Given the description of an element on the screen output the (x, y) to click on. 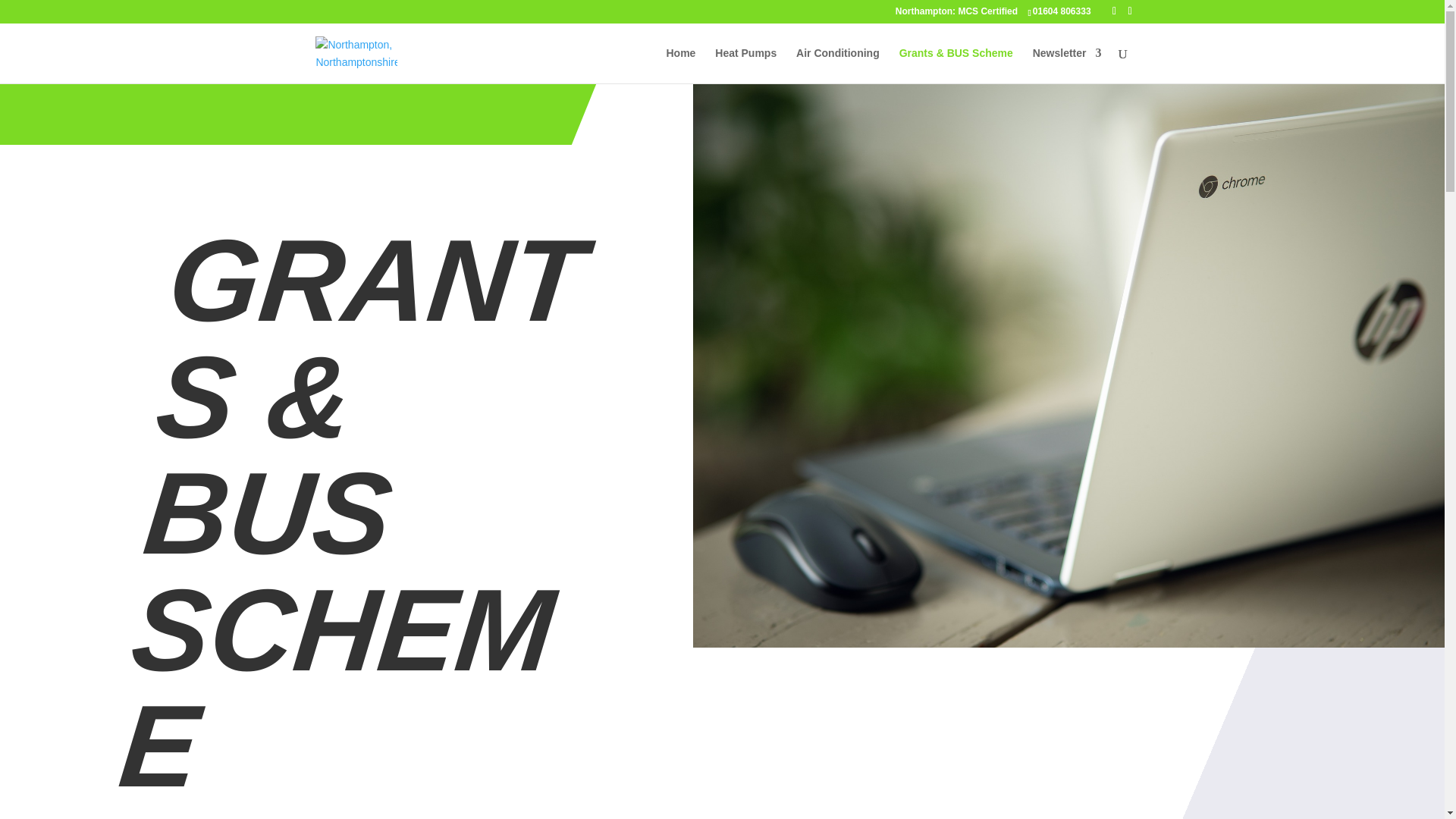
Air Conditioning (837, 65)
Heat Pumps (745, 65)
Newsletter (1067, 65)
